Given the description of an element on the screen output the (x, y) to click on. 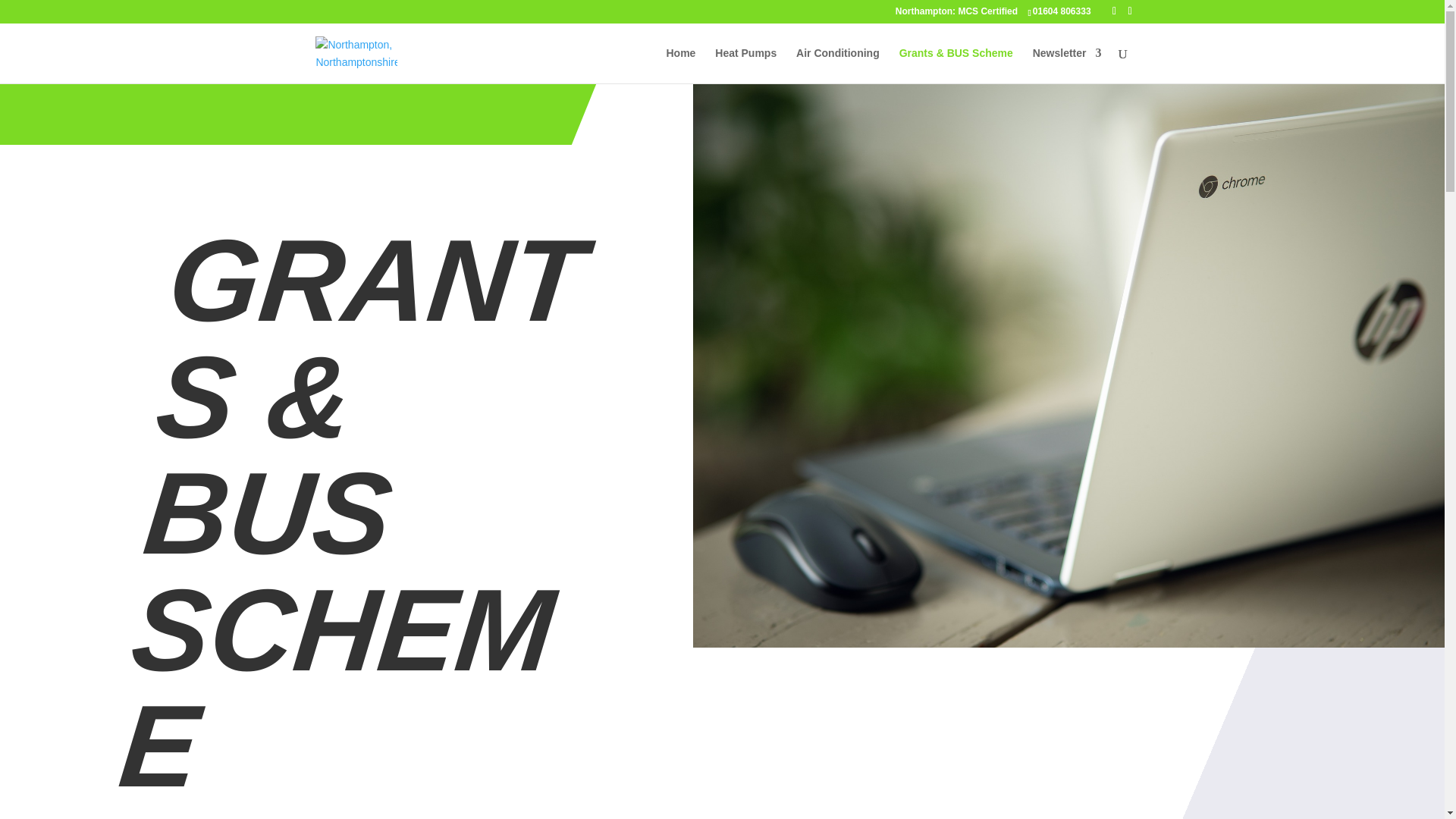
Air Conditioning (837, 65)
Heat Pumps (745, 65)
Newsletter (1067, 65)
